Given the description of an element on the screen output the (x, y) to click on. 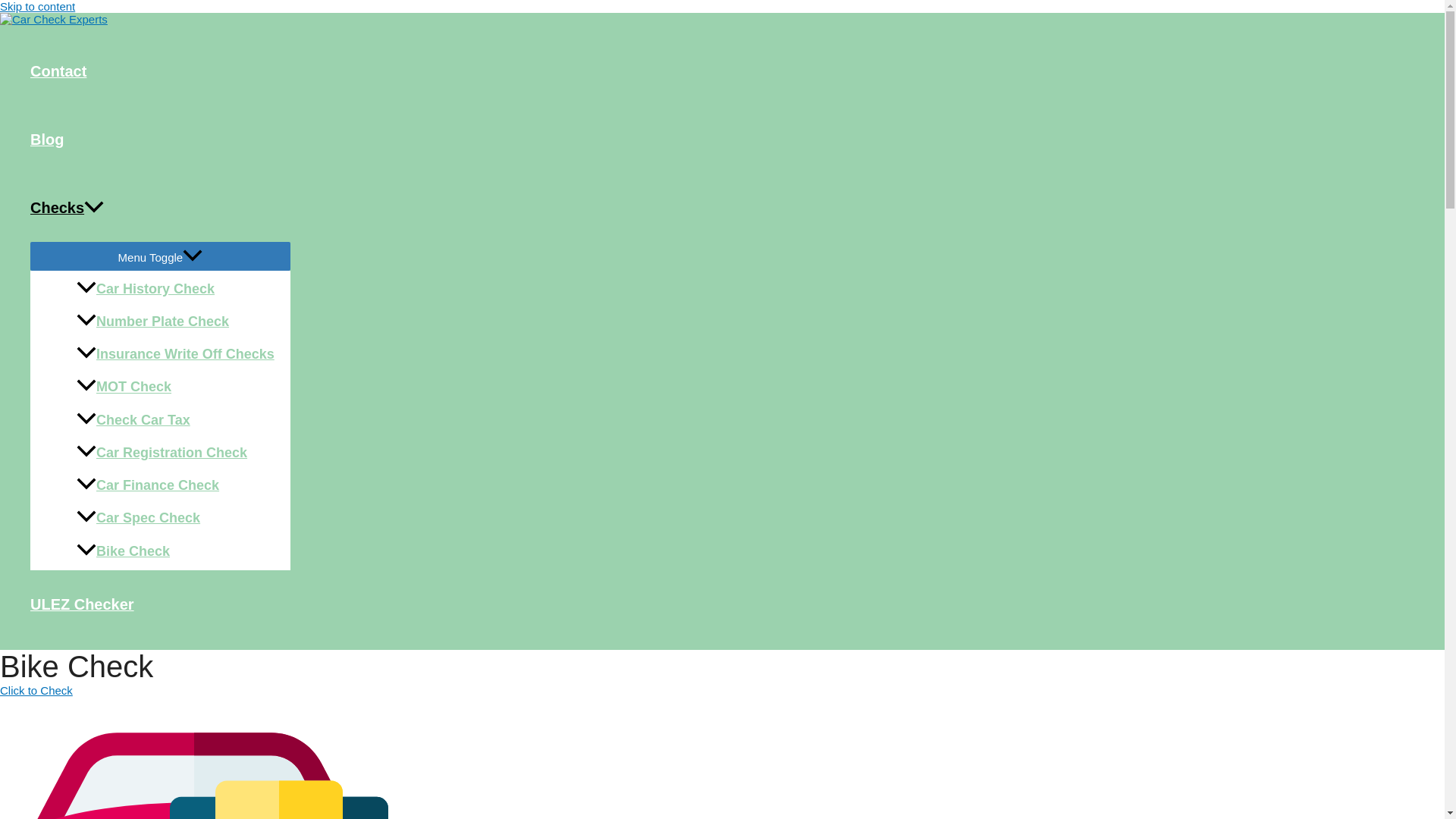
Blog (159, 139)
MOT Check (175, 387)
Insurance Write Off Checks (175, 354)
Click to Check (36, 689)
Bike Check (175, 551)
Number Plate Check (175, 321)
Car Registration Check (175, 452)
Skip to content (37, 6)
Car Spec Check (175, 518)
Car Finance Check (175, 485)
Menu Toggle (159, 256)
Skip to content (37, 6)
ULEZ Checker (159, 604)
Contact (159, 70)
Check Car Tax (175, 420)
